Given the description of an element on the screen output the (x, y) to click on. 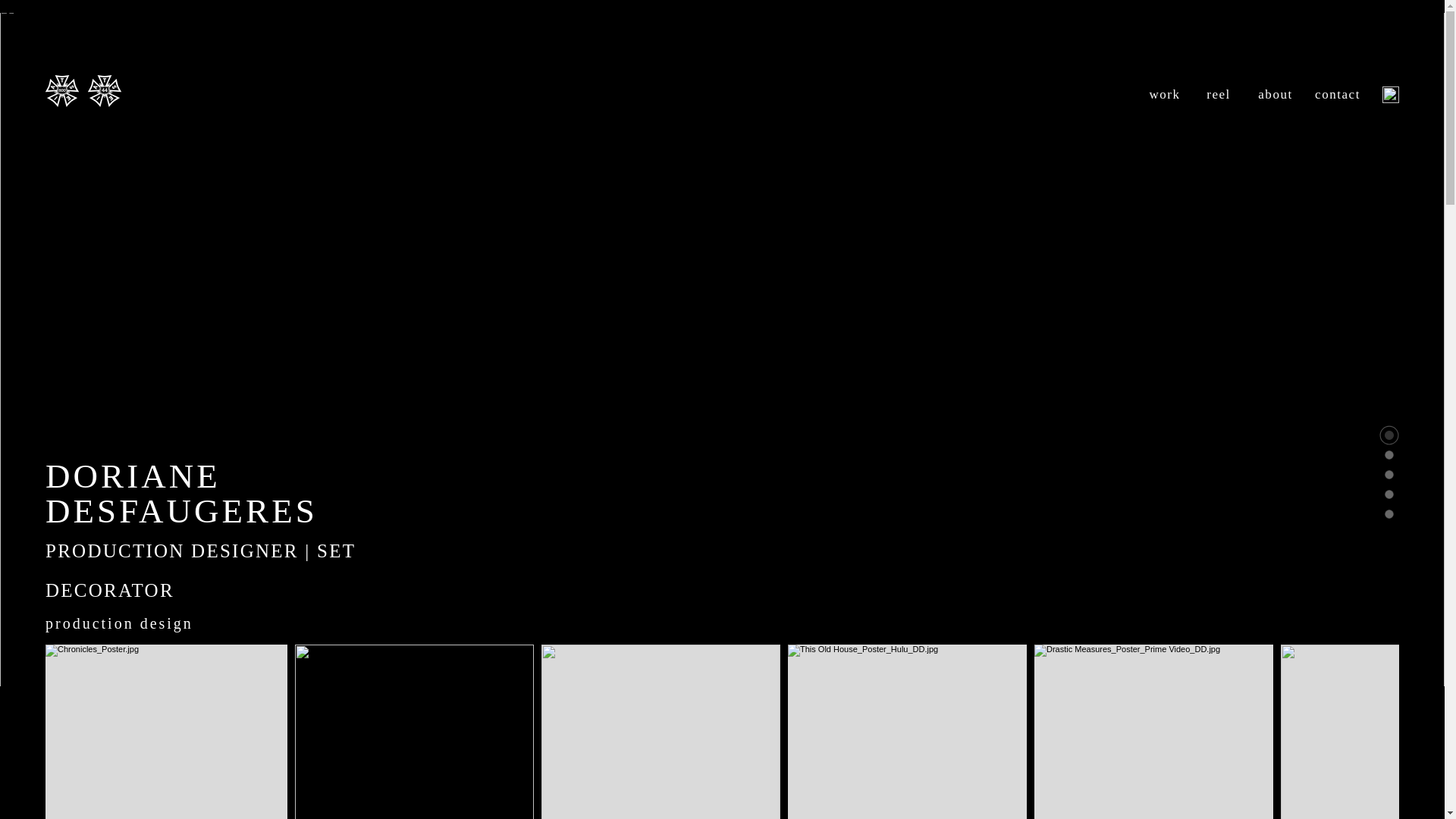
DORIANE DESFAUGERES (181, 493)
work (1163, 93)
reel (1218, 93)
about (1274, 93)
contact (1336, 93)
